Given the description of an element on the screen output the (x, y) to click on. 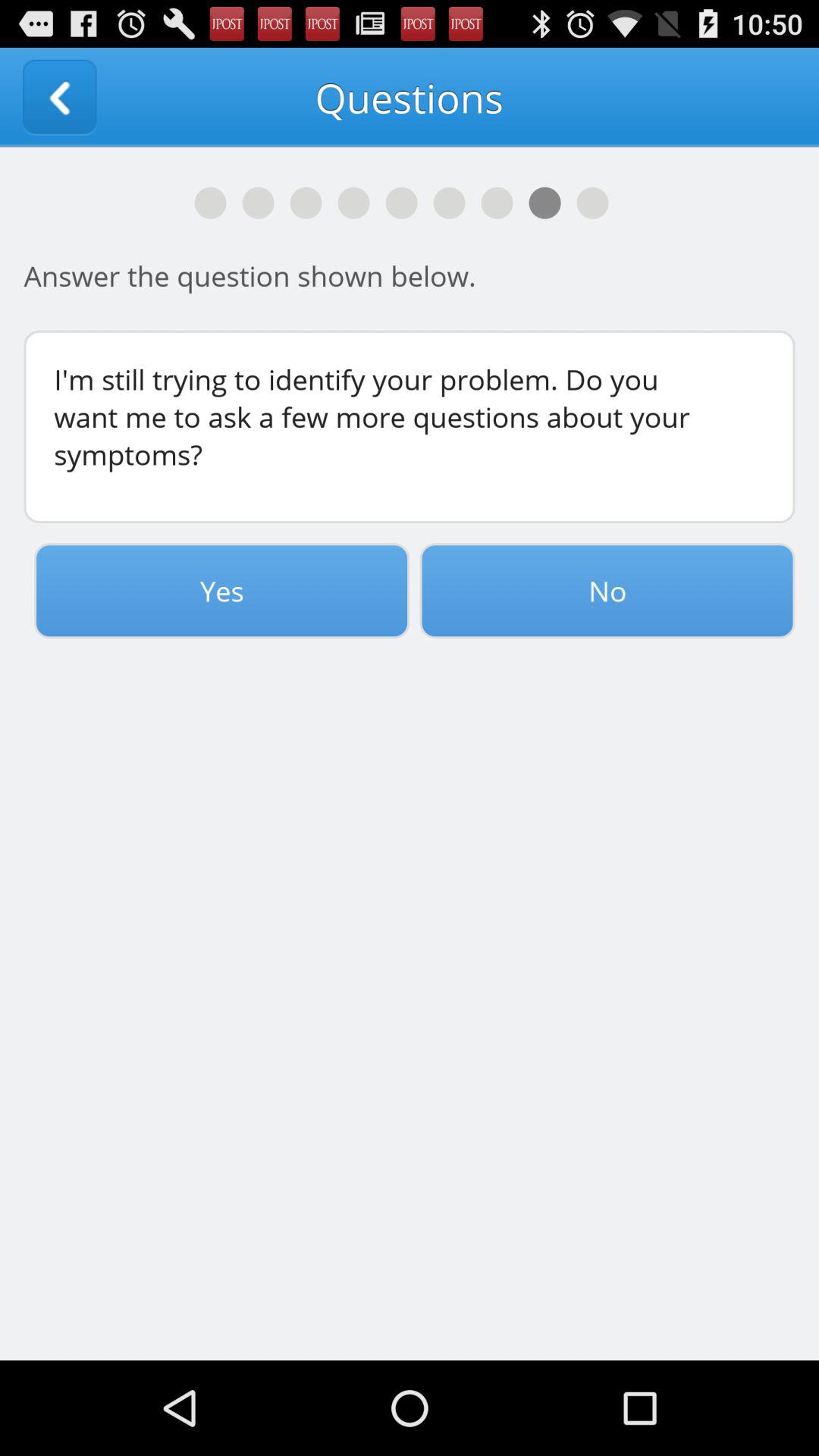
launch button next to the no icon (221, 590)
